Given the description of an element on the screen output the (x, y) to click on. 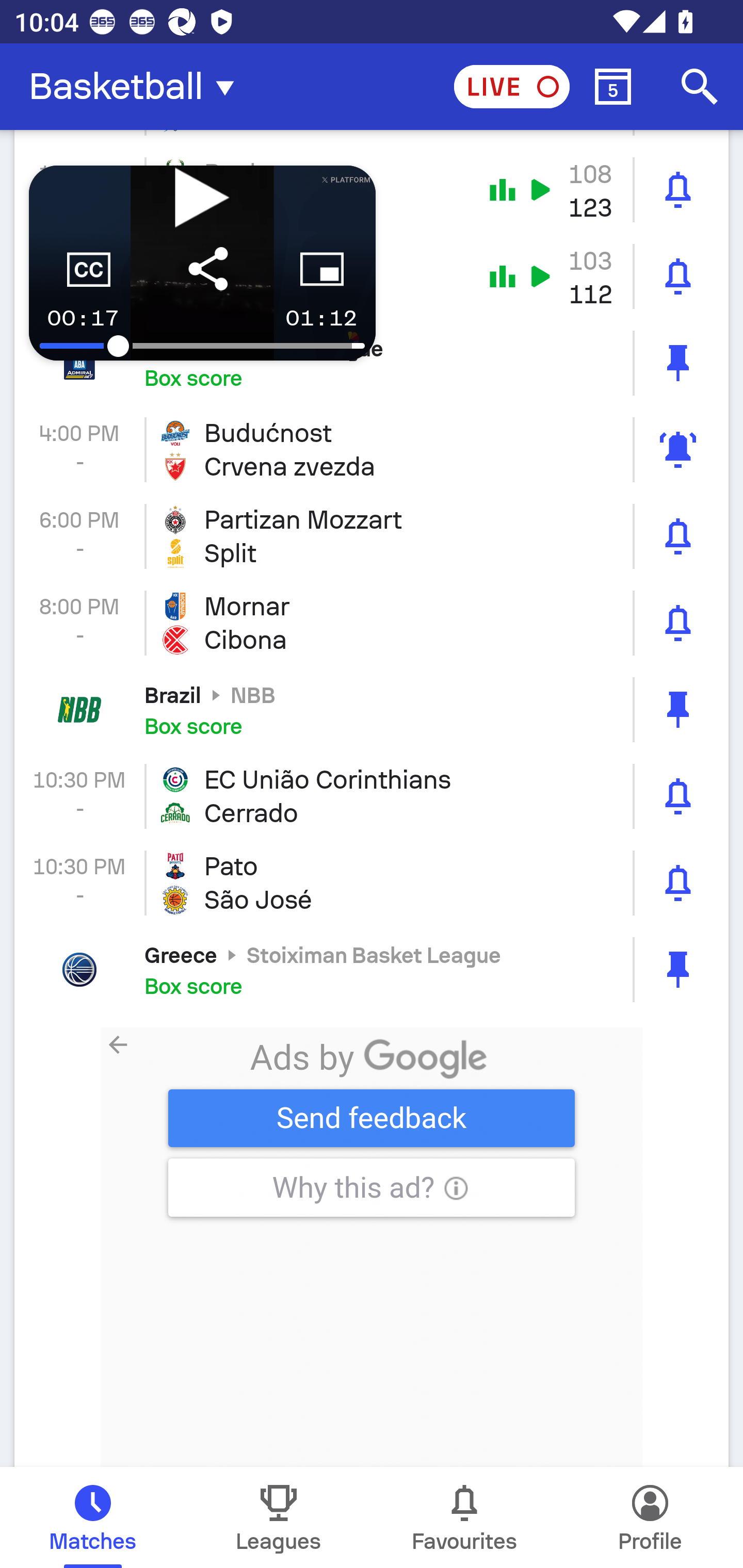
Basketball (137, 86)
Calendar (612, 86)
Search (699, 86)
4:00 PM - Budućnost Crvena zvezda (371, 449)
6:00 PM - Partizan Mozzart Split (371, 536)
8:00 PM - Mornar Cibona (371, 623)
Brazil NBB Box score (371, 709)
10:30 PM - EC União Corinthians Cerrado (371, 796)
10:30 PM - Pato São José (371, 883)
Greece Stoiximan Basket League Box score (371, 969)
Leagues (278, 1517)
Favourites (464, 1517)
Profile (650, 1517)
